Given the description of an element on the screen output the (x, y) to click on. 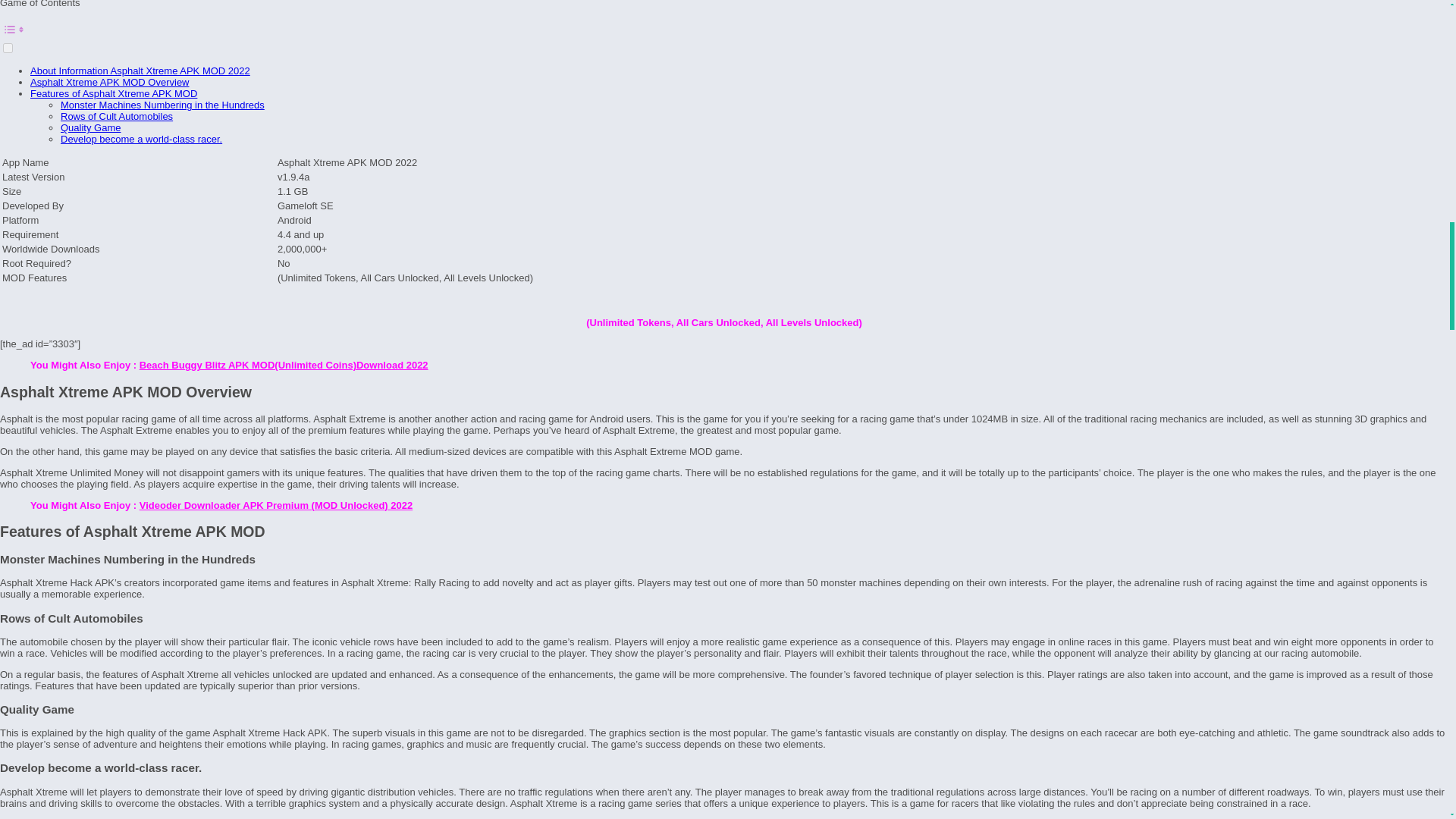
Rows of Cult Automobiles (117, 116)
on (7, 48)
Quality Game (90, 127)
Asphalt Xtreme APK MOD Overview (109, 81)
Features of Asphalt Xtreme APK MOD (113, 93)
About Information Asphalt Xtreme APK MOD 2022 (140, 70)
Monster Machines Numbering in the Hundreds (162, 104)
